Given the description of an element on the screen output the (x, y) to click on. 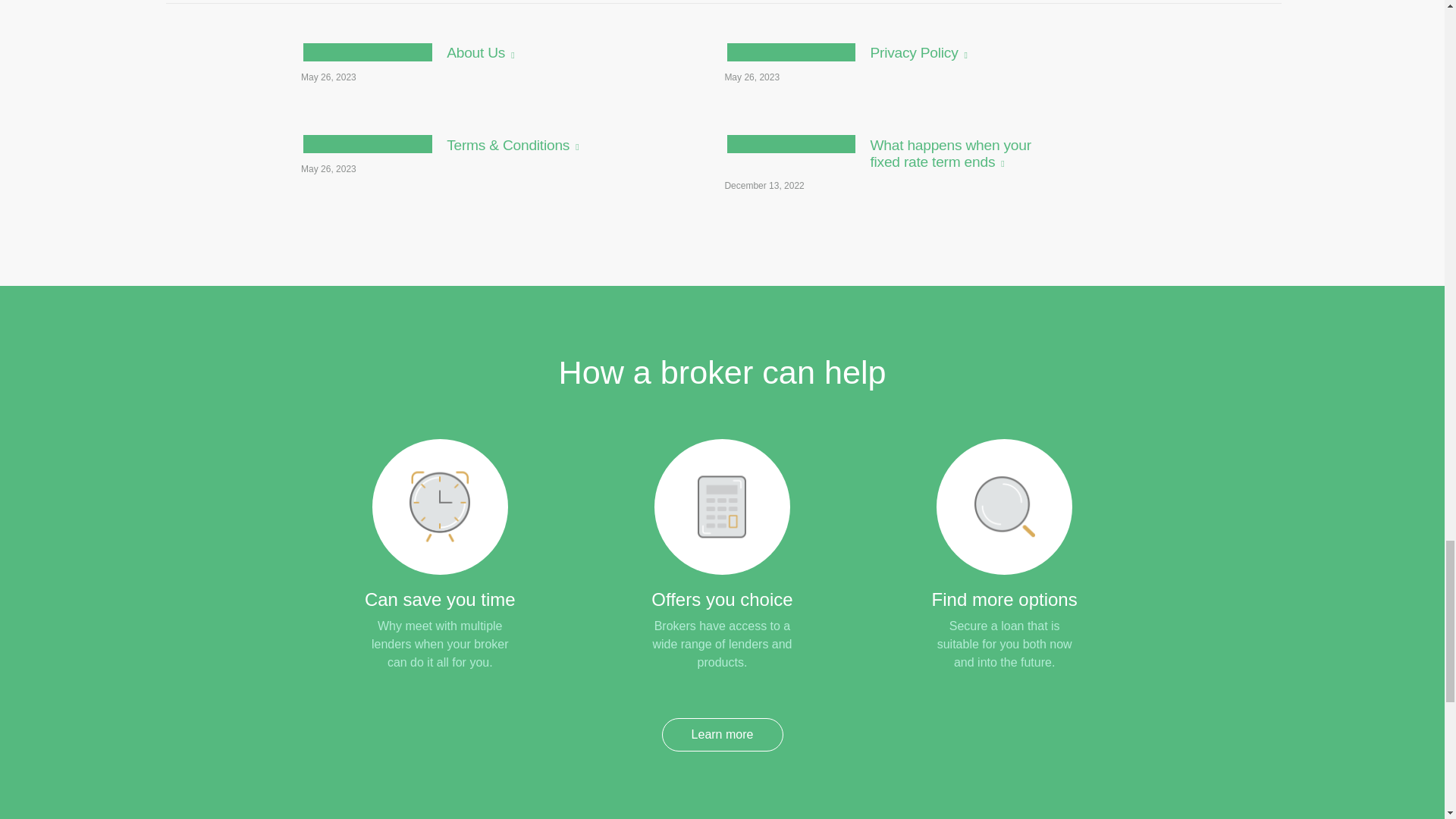
Learn more (467, 67)
